Given the description of an element on the screen output the (x, y) to click on. 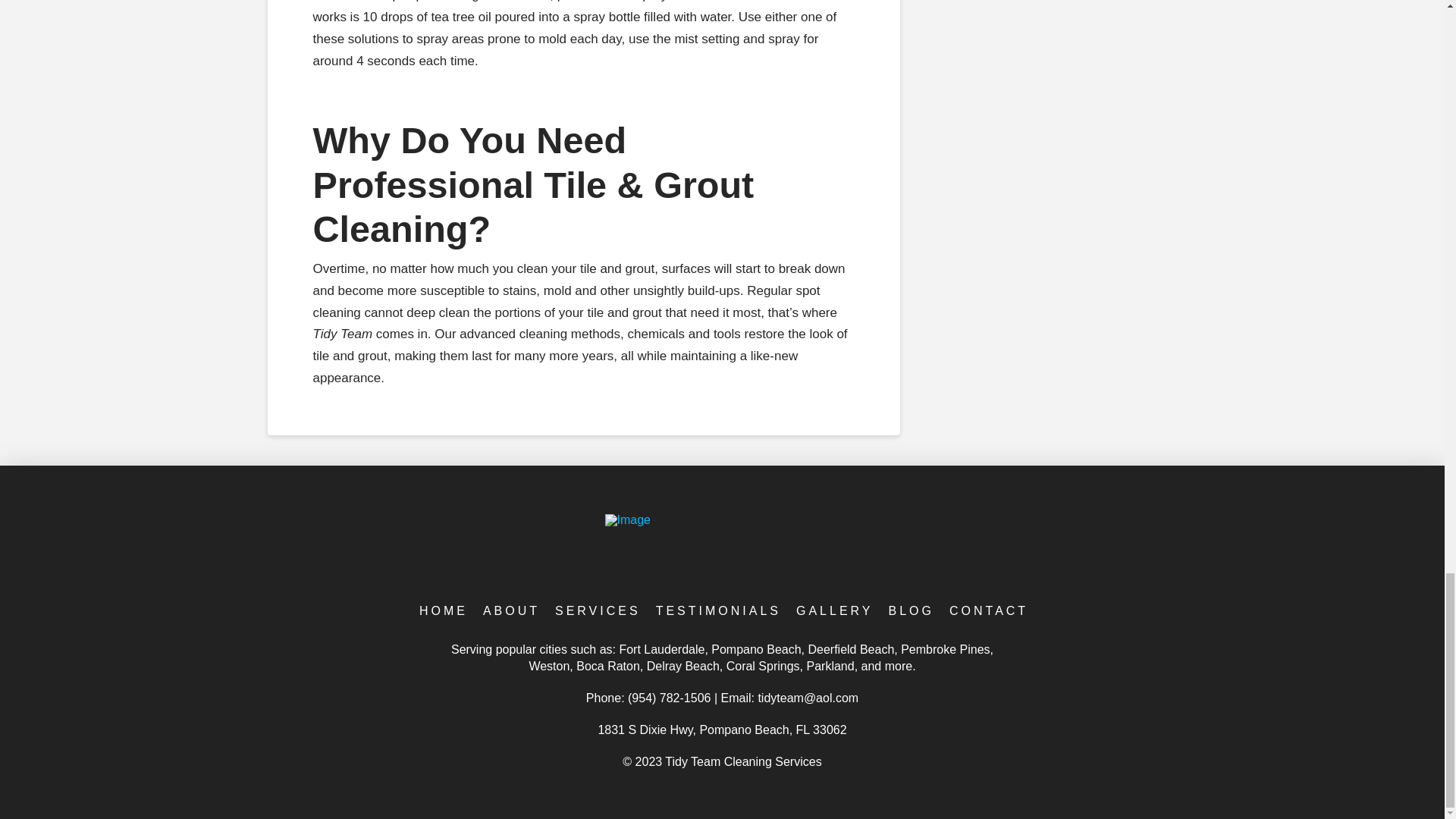
HOME (442, 611)
BLOG (909, 611)
ABOUT (510, 611)
GALLERY (833, 611)
SERVICES (596, 611)
CONTACT (986, 611)
TESTIMONIALS (716, 611)
